Given the description of an element on the screen output the (x, y) to click on. 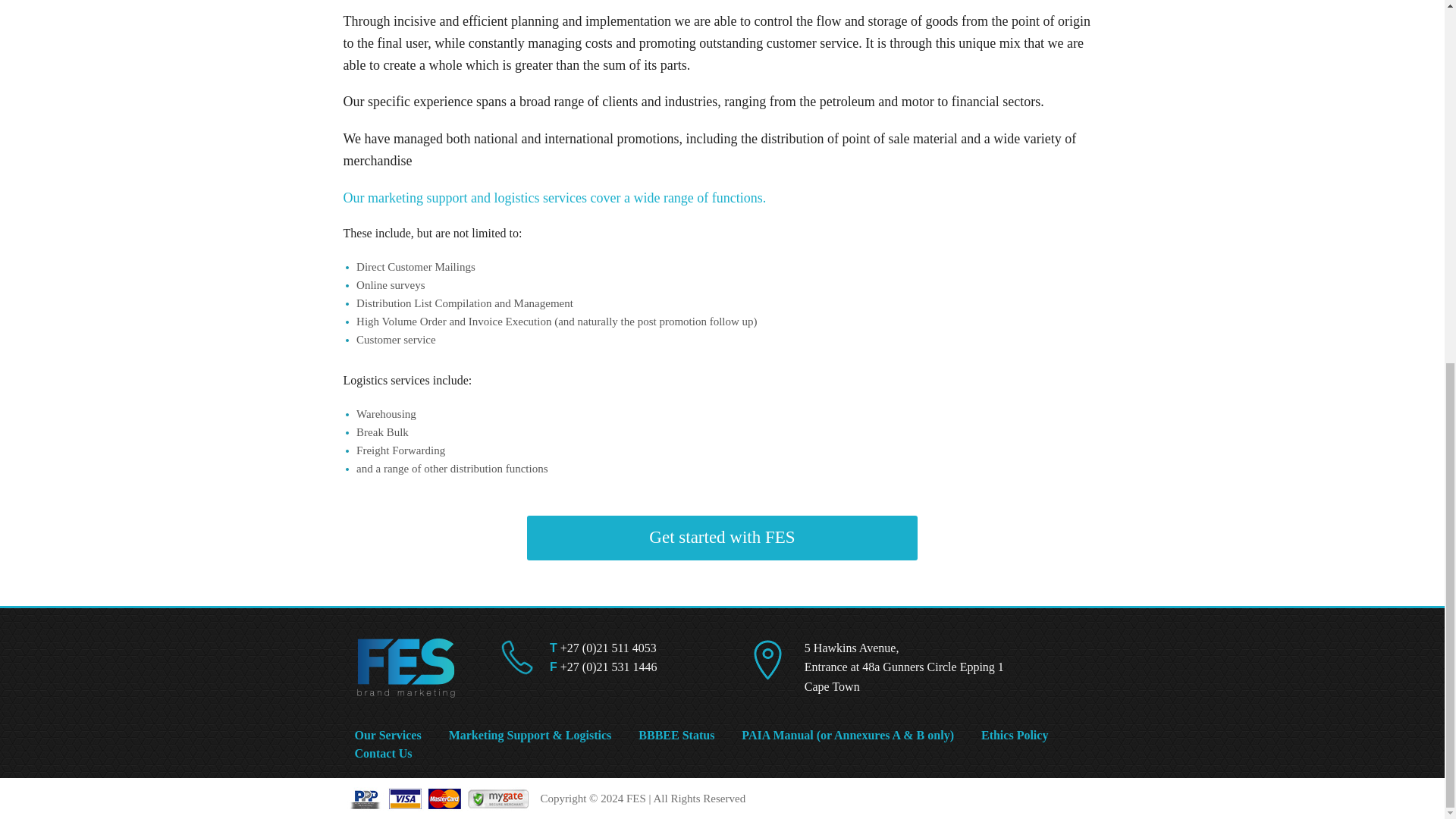
Get started with FES (722, 537)
PAIA Manual (776, 735)
Contact Us (383, 753)
Our Services (400, 735)
BBBEE Status (688, 735)
Ethics Policy (1026, 735)
